Given the description of an element on the screen output the (x, y) to click on. 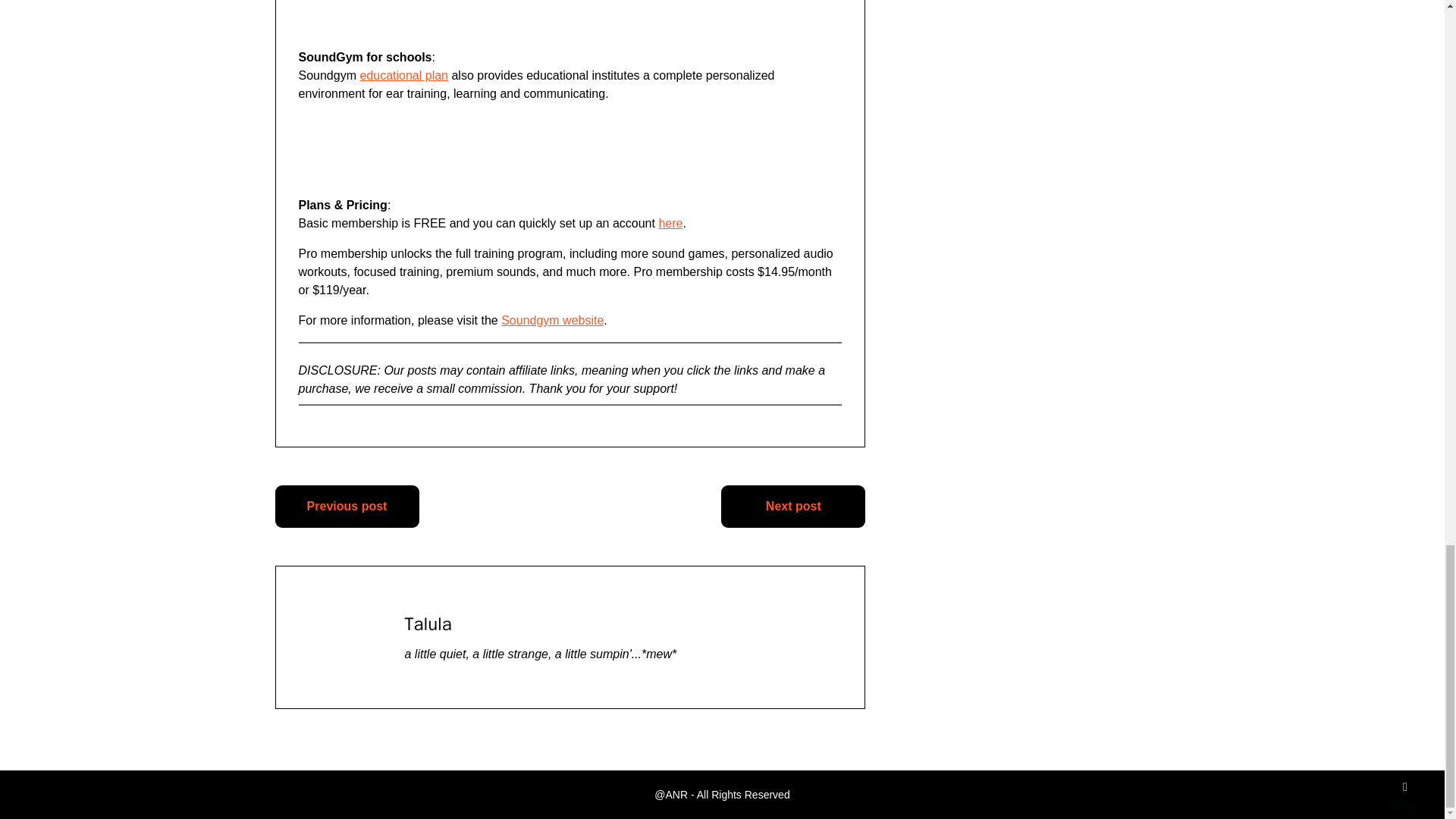
Previous post (347, 506)
educational plan (403, 74)
SoundGym: Audio Ear Training Platform online (541, 15)
here (670, 223)
Next post (792, 506)
Soundgym website (552, 319)
